Given the description of an element on the screen output the (x, y) to click on. 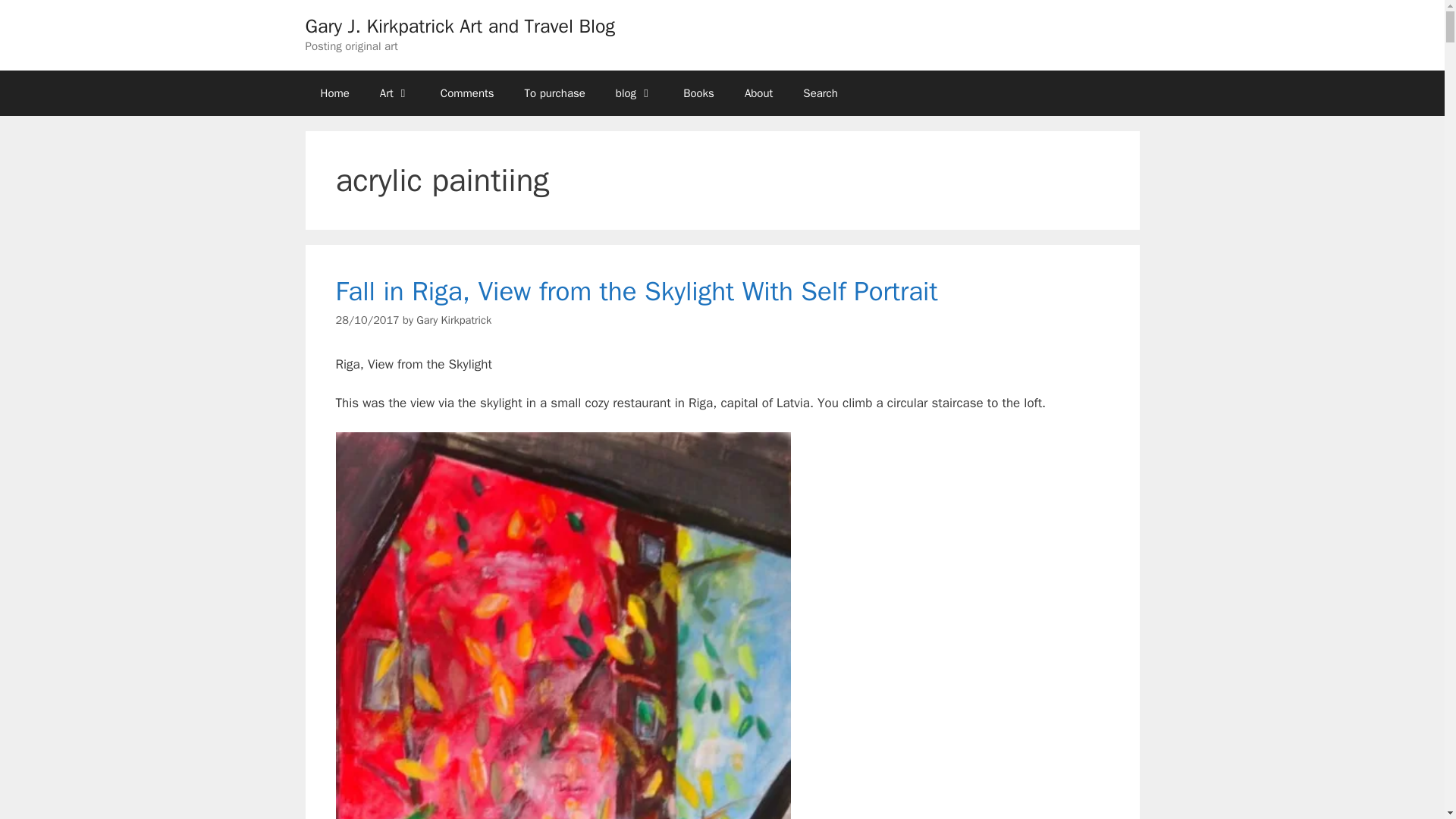
Home (334, 92)
Art (395, 92)
Comments (467, 92)
To purchase (554, 92)
blog (633, 92)
View all posts by Gary Kirkpatrick (454, 319)
Gary J. Kirkpatrick Art and Travel Blog (459, 25)
